Given the description of an element on the screen output the (x, y) to click on. 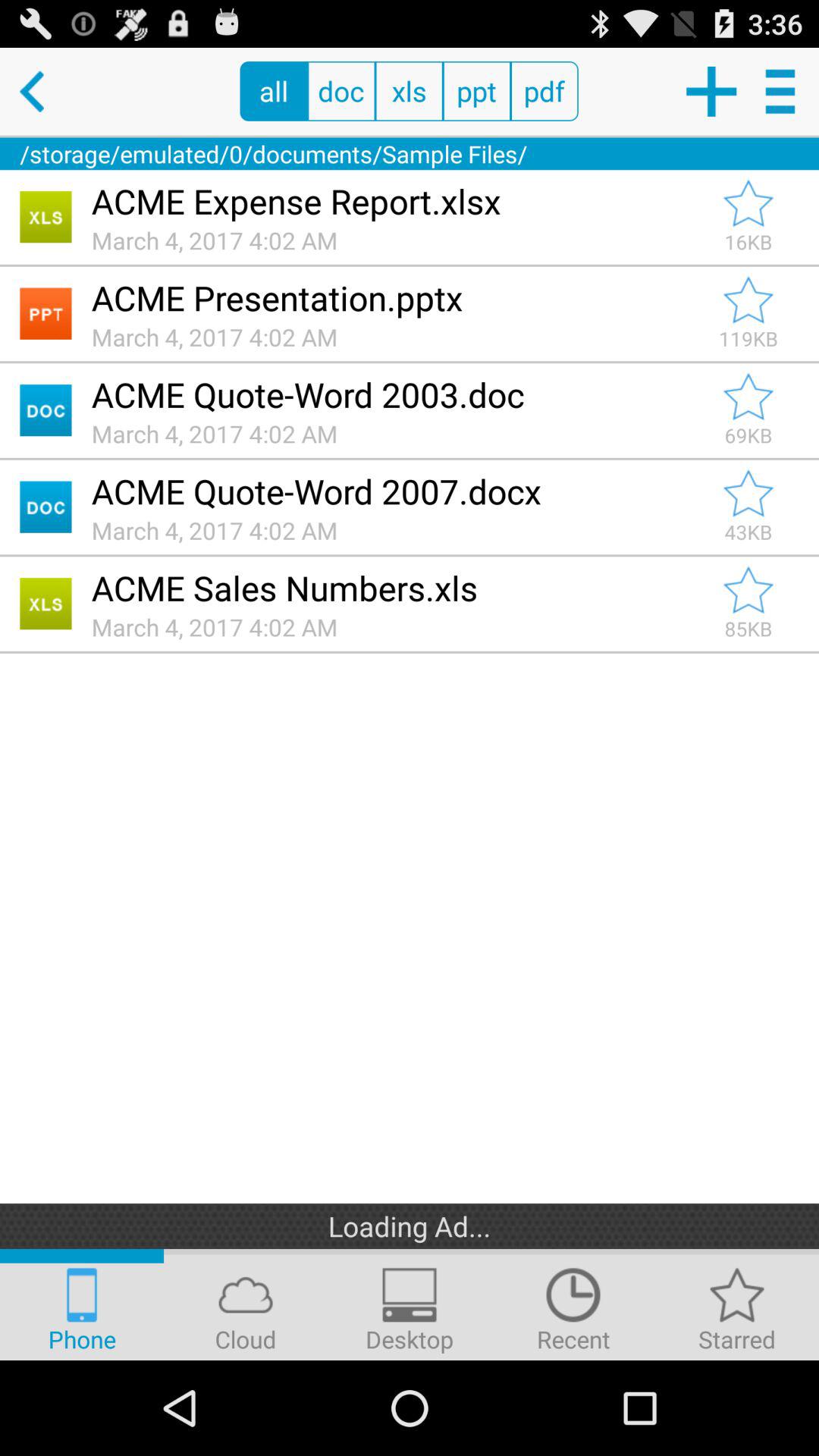
turn on the item next to all item (43, 91)
